Given the description of an element on the screen output the (x, y) to click on. 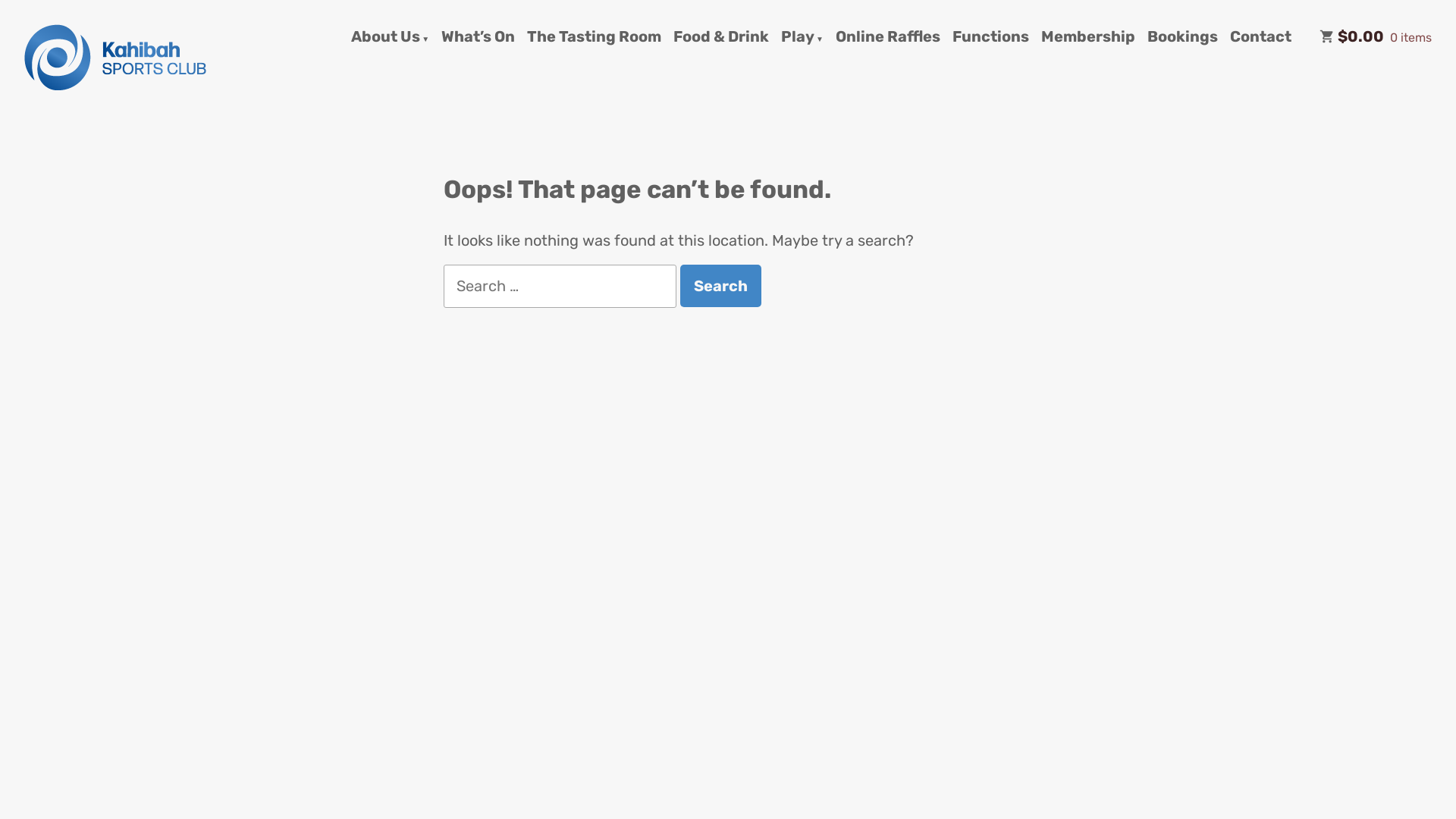
The Tasting Room Element type: text (594, 36)
Membership Element type: text (1088, 36)
Bookings Element type: text (1182, 36)
Kahibah Sports Club Element type: text (125, 113)
Play Element type: text (802, 36)
Contact Element type: text (1260, 36)
Online Raffles Element type: text (887, 36)
About Us Element type: text (390, 36)
$0.00 0 items Element type: text (1375, 36)
Search Element type: text (720, 285)
Food & Drink Element type: text (720, 36)
Functions Element type: text (990, 36)
